Given the description of an element on the screen output the (x, y) to click on. 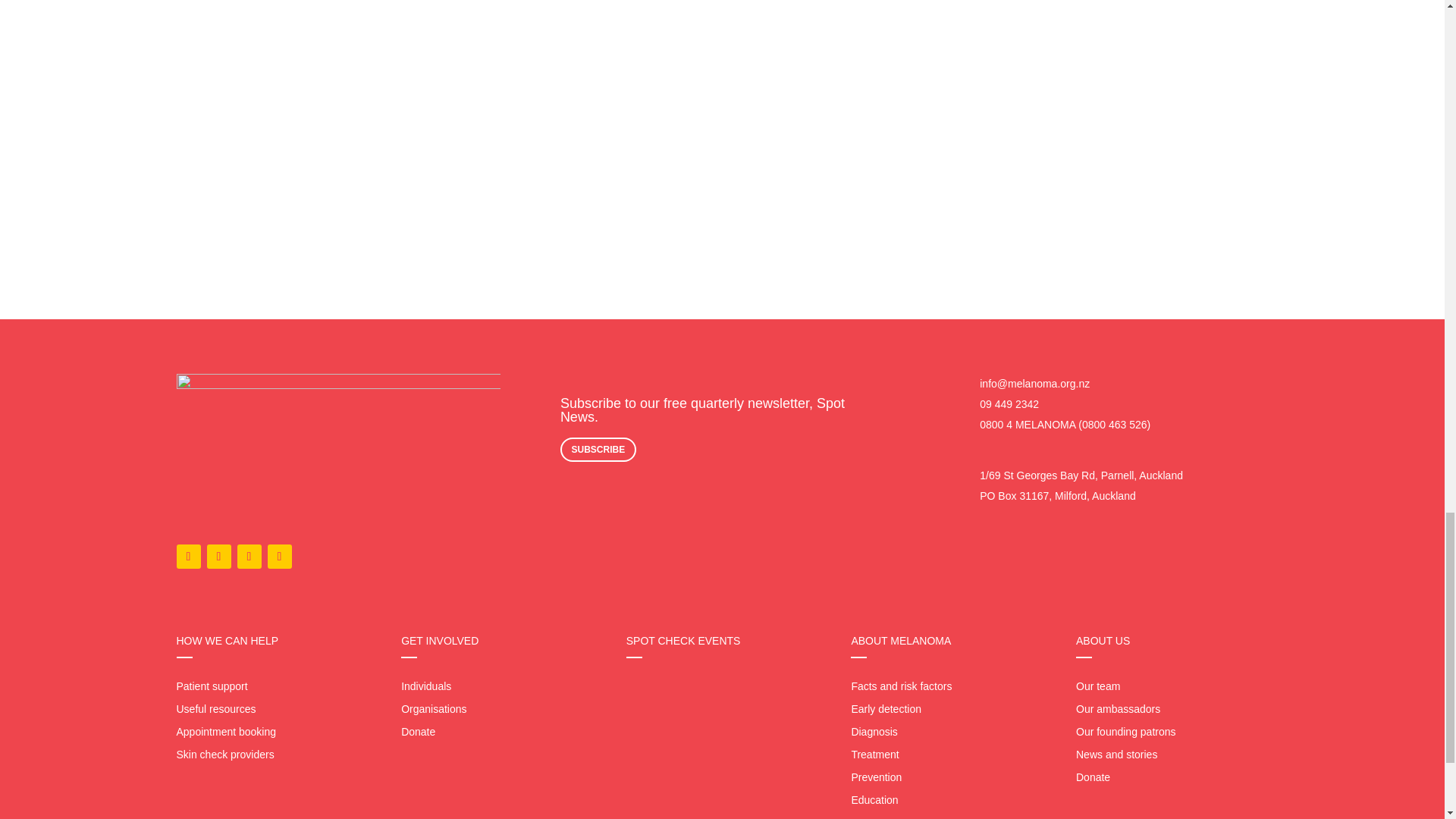
Follow on Youtube (278, 556)
Follow on Instagram (218, 556)
Follow on Facebook (188, 556)
Follow on LinkedIn (247, 556)
MNZ-Melanoma-NZ-Logo (337, 443)
